Given the description of an element on the screen output the (x, y) to click on. 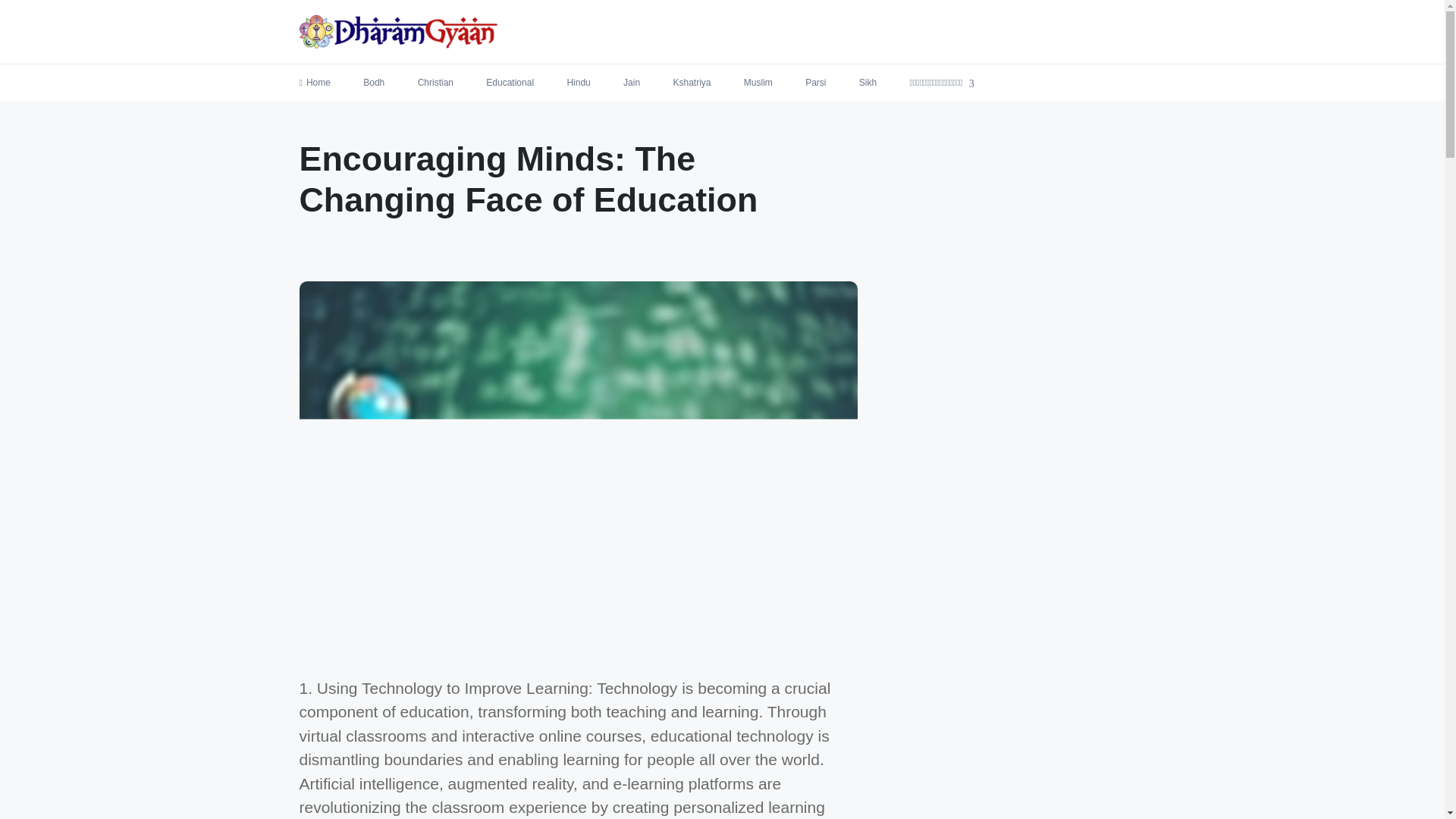
Educational (510, 82)
Christian (434, 82)
Kshatriya (691, 82)
